Given the description of an element on the screen output the (x, y) to click on. 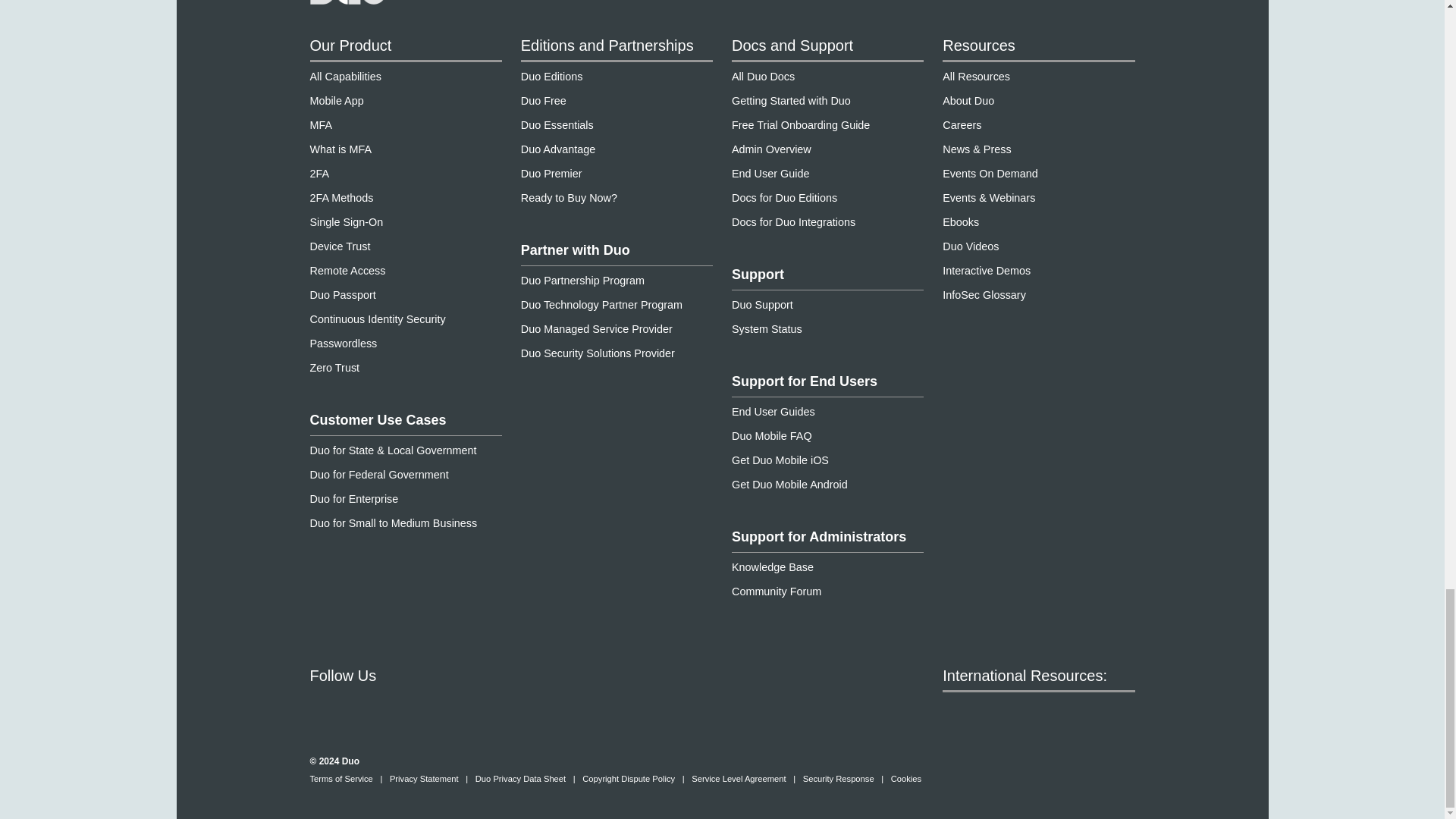
Cisco Cookie Consent Manager (906, 779)
Duo Security on Instagram (434, 708)
Duo Security on Facebook (319, 708)
Duo Security on LinkedIn (491, 708)
Duo Security on X (378, 708)
